Given the description of an element on the screen output the (x, y) to click on. 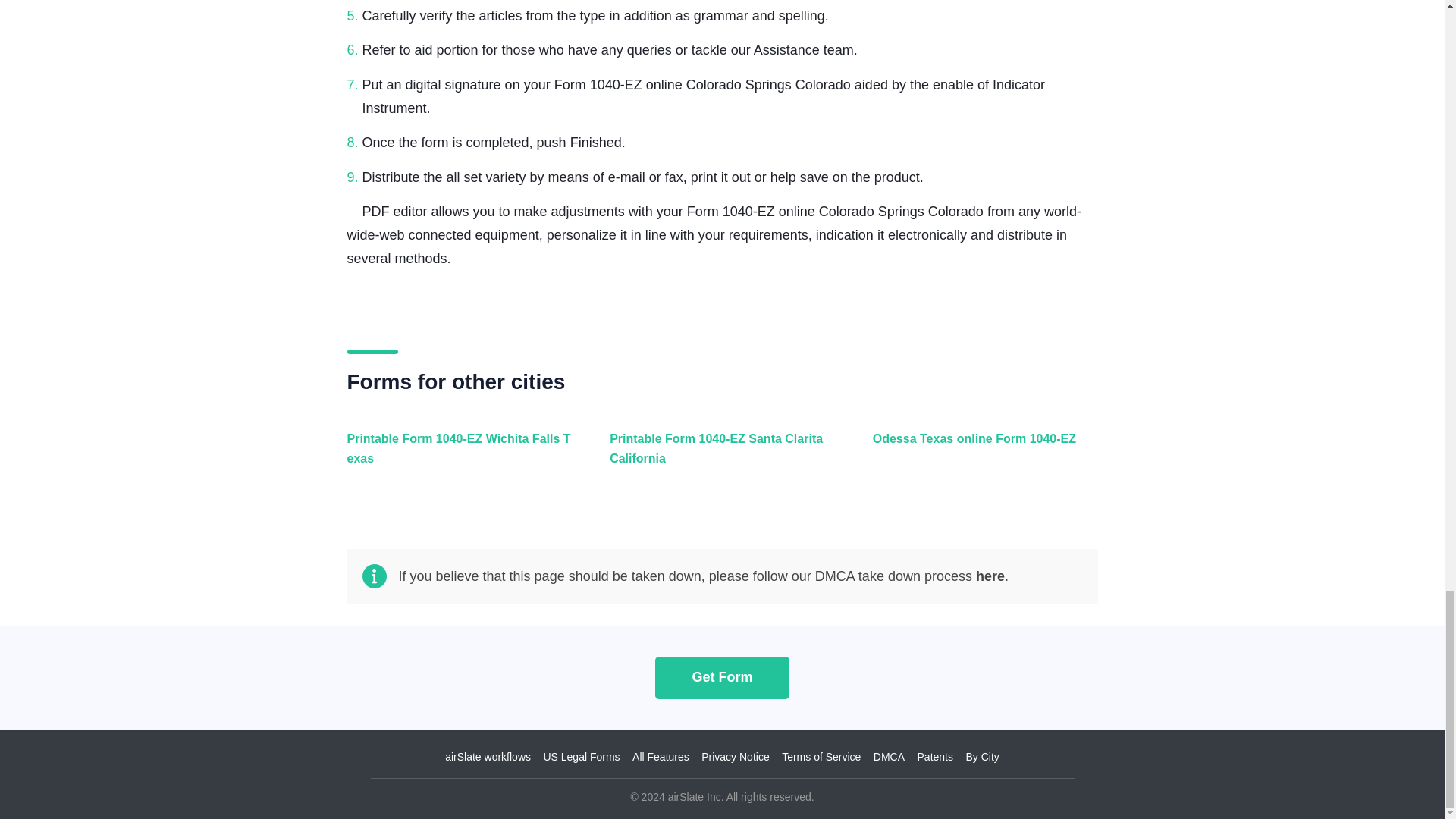
airSlate workflows (488, 756)
DMCA (888, 756)
Terms of Service (820, 756)
Printable Form 1040-EZ Wichita Falls Texas (456, 456)
US Legal Forms (581, 756)
Odessa Texas online Form 1040-EZ (981, 456)
Get Form (722, 676)
By City (981, 756)
Printable Form 1040-EZ Santa Clarita California (718, 456)
Privacy Notice (734, 756)
Patents (935, 756)
here (989, 575)
All Features (659, 756)
